Given the description of an element on the screen output the (x, y) to click on. 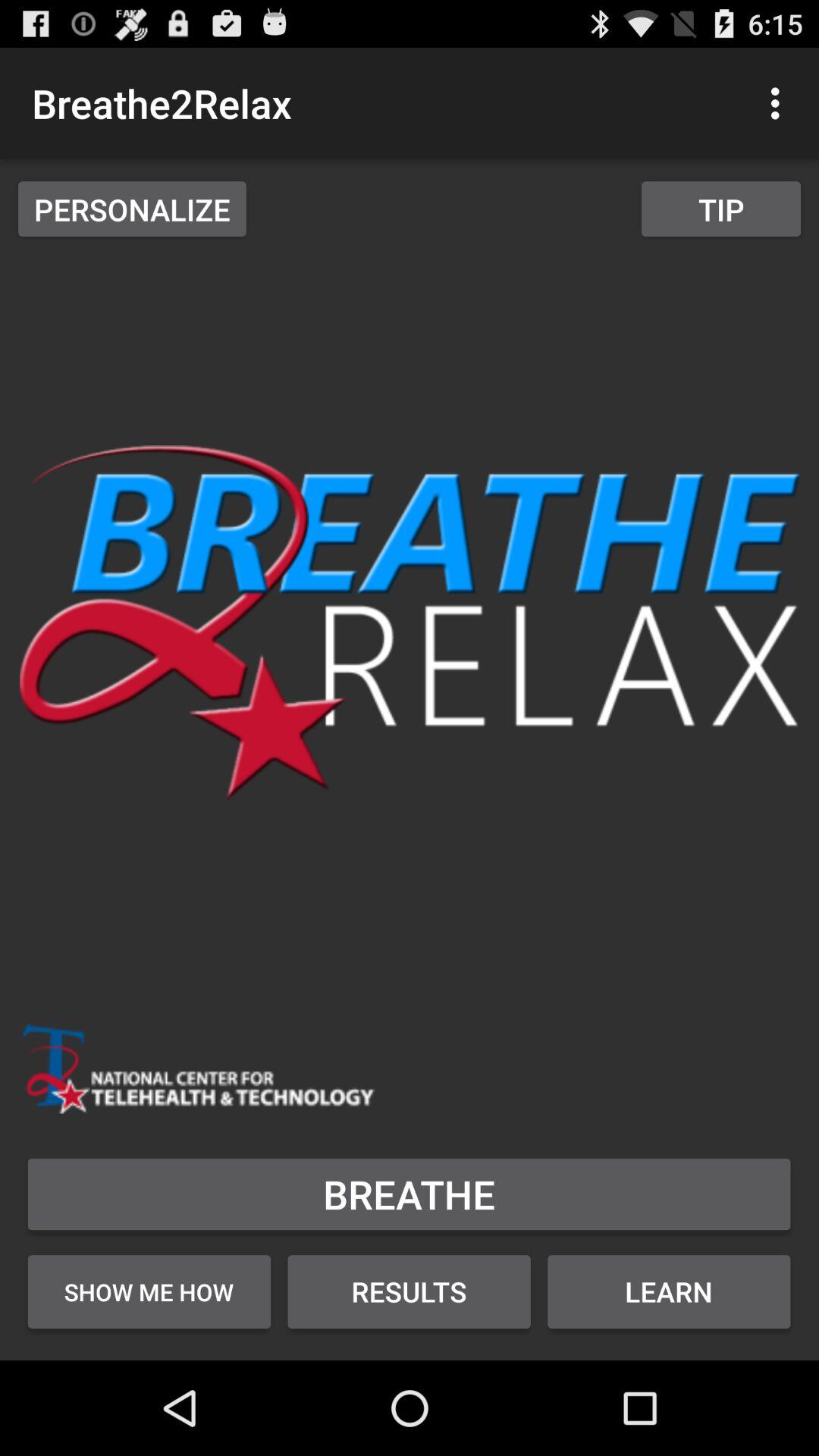
scroll until the learn button (668, 1291)
